Given the description of an element on the screen output the (x, y) to click on. 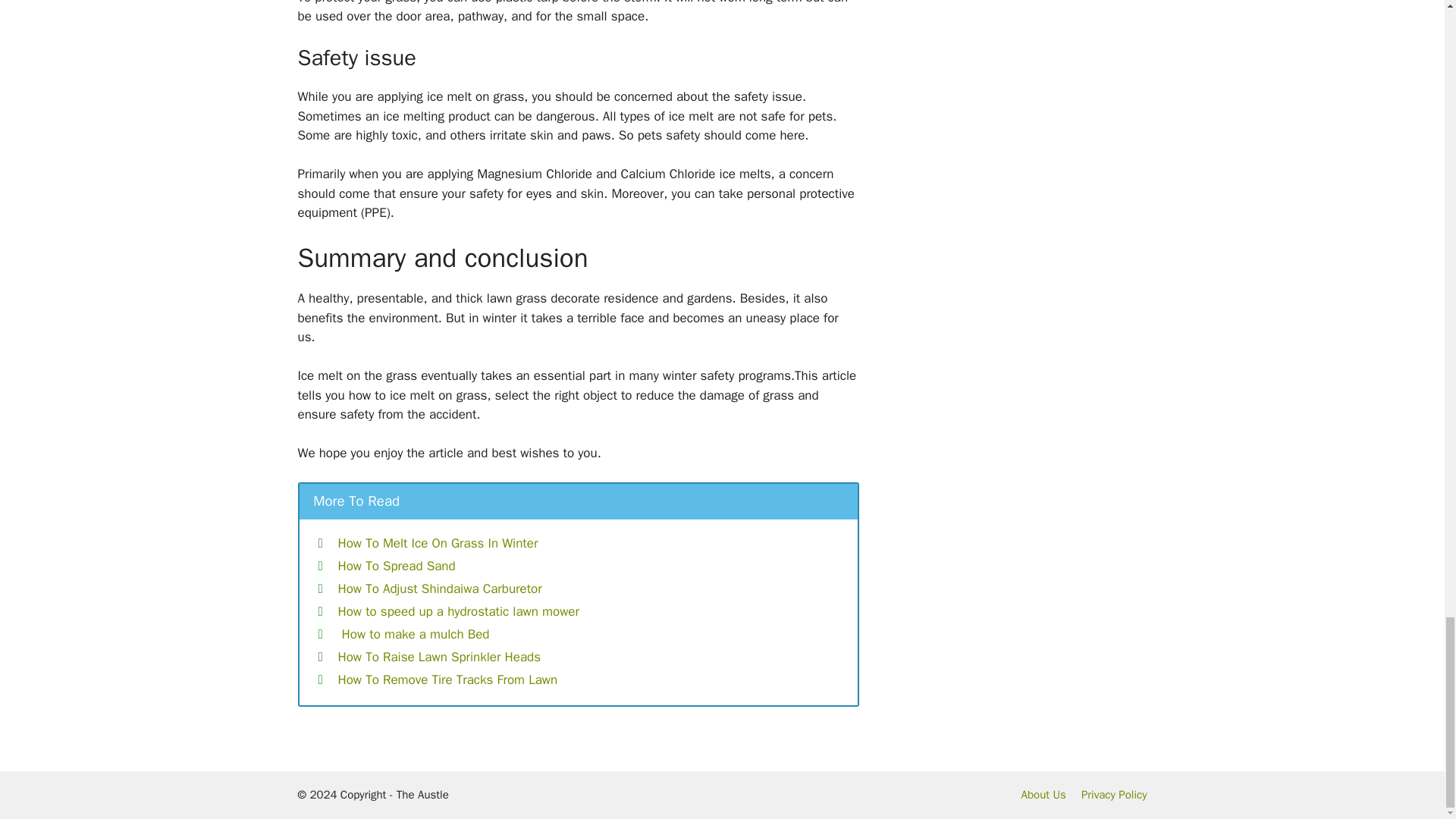
How To Raise Lawn Sprinkler Heads (439, 657)
How To Adjust Shindaiwa Carburetor (439, 588)
About Us (1043, 794)
How To Melt Ice On Grass In Winter (437, 543)
 How to make a mulch Bed (413, 634)
How To Spread Sand (396, 565)
How to speed up a hydrostatic lawn mower (458, 611)
How To Remove Tire Tracks From Lawn (447, 679)
Privacy Policy (1114, 794)
